Given the description of an element on the screen output the (x, y) to click on. 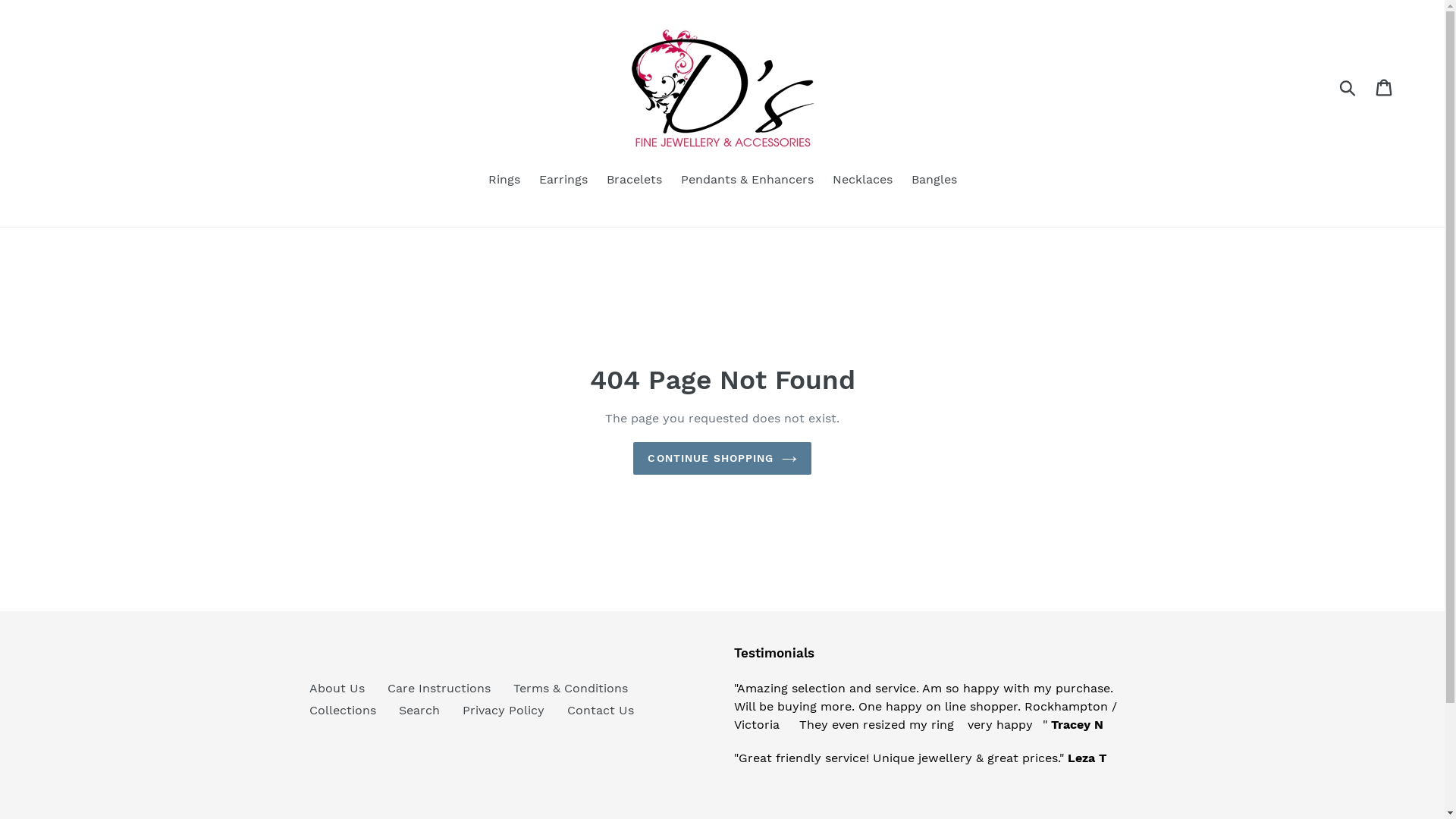
Earrings Element type: text (562, 180)
Rings Element type: text (503, 180)
Bracelets Element type: text (634, 180)
About Us Element type: text (336, 687)
Search Element type: text (418, 709)
Cart Element type: text (1384, 87)
Bangles Element type: text (933, 180)
CONTINUE SHOPPING Element type: text (721, 458)
Privacy Policy Element type: text (503, 709)
Collections Element type: text (342, 709)
Submit Element type: text (1348, 86)
Necklaces Element type: text (862, 180)
Contact Us Element type: text (600, 709)
Care Instructions Element type: text (437, 687)
Terms & Conditions Element type: text (569, 687)
Pendants & Enhancers Element type: text (747, 180)
